Given the description of an element on the screen output the (x, y) to click on. 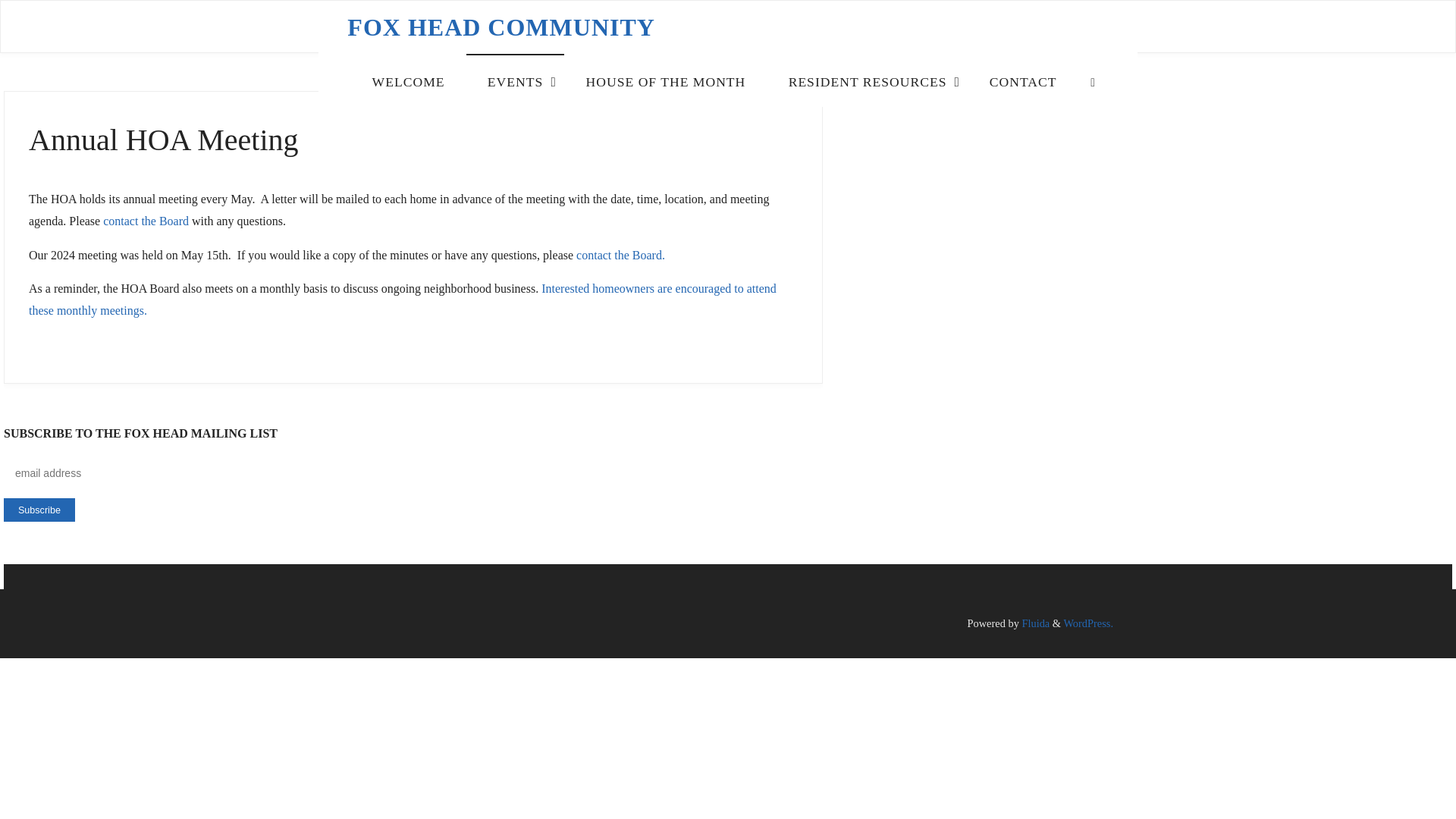
Subscribe (39, 509)
CONTACT (1023, 80)
Semantic Personal Publishing Platform (1087, 623)
HOUSE OF THE MONTH (665, 80)
contact the Board (146, 220)
EVENTS (514, 80)
Fluida WordPress Theme by Cryout Creations (1034, 623)
WELCOME (407, 80)
RESIDENT RESOURCES (867, 80)
contact the Board. (620, 254)
FOX HEAD COMMUNITY (501, 27)
